Given the description of an element on the screen output the (x, y) to click on. 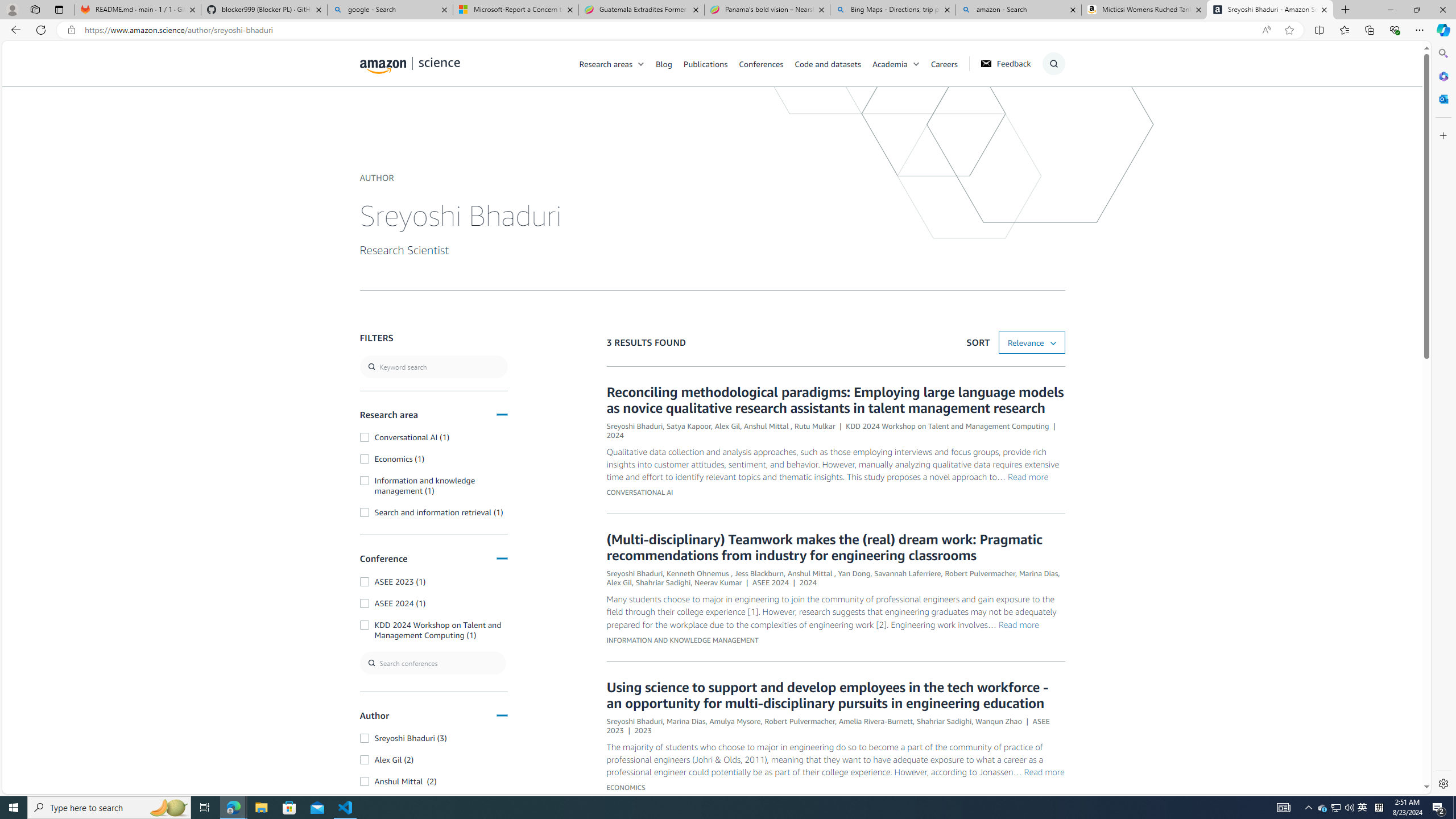
Marina Dias (685, 720)
Code and datasets (827, 63)
Sreyoshi Bhaduri (633, 720)
Sreyoshi Bhaduri - Amazon Science (1270, 9)
Amelia Rivera-Burnett (875, 720)
